Given the description of an element on the screen output the (x, y) to click on. 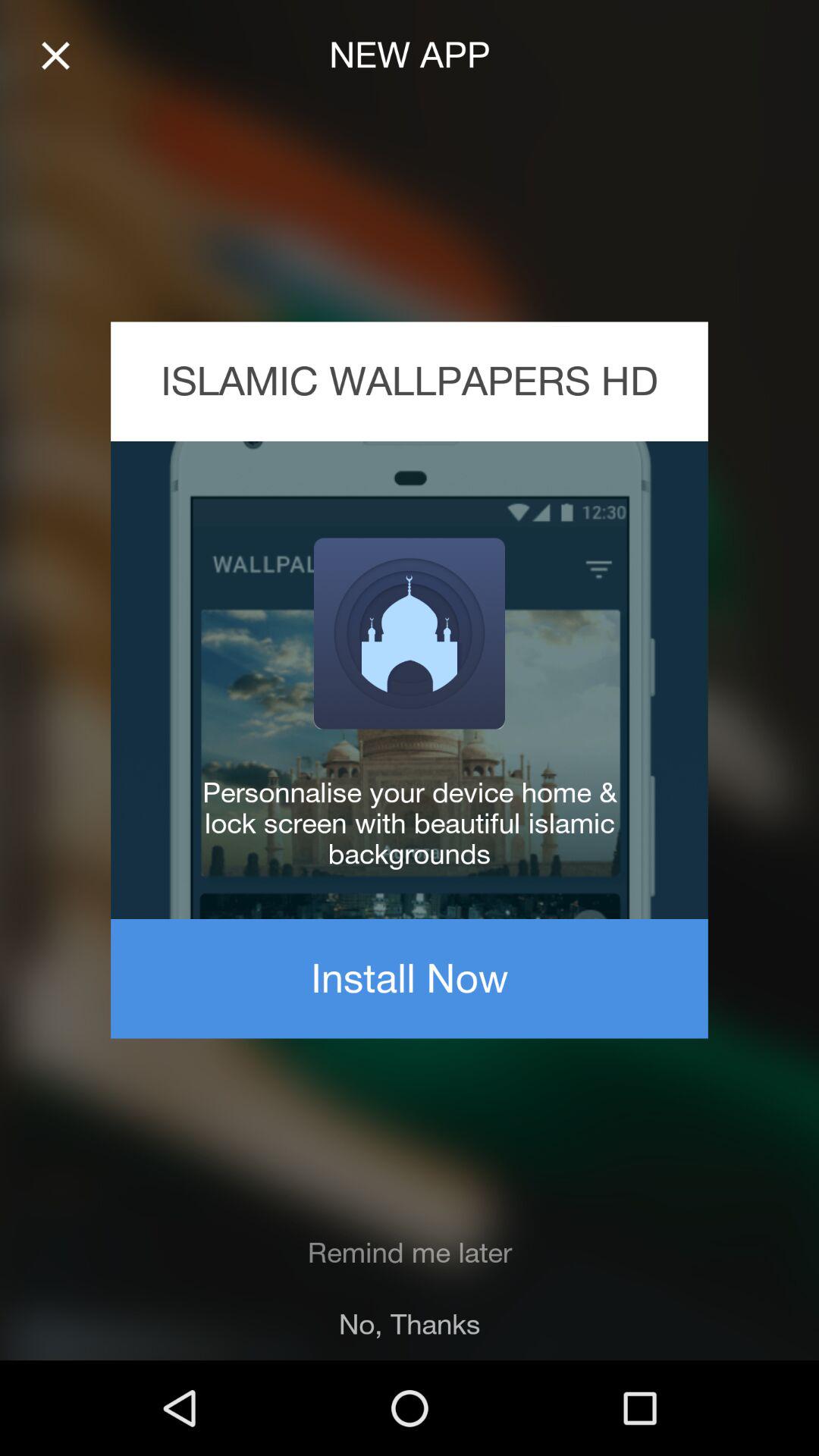
open item below install now (409, 1252)
